Given the description of an element on the screen output the (x, y) to click on. 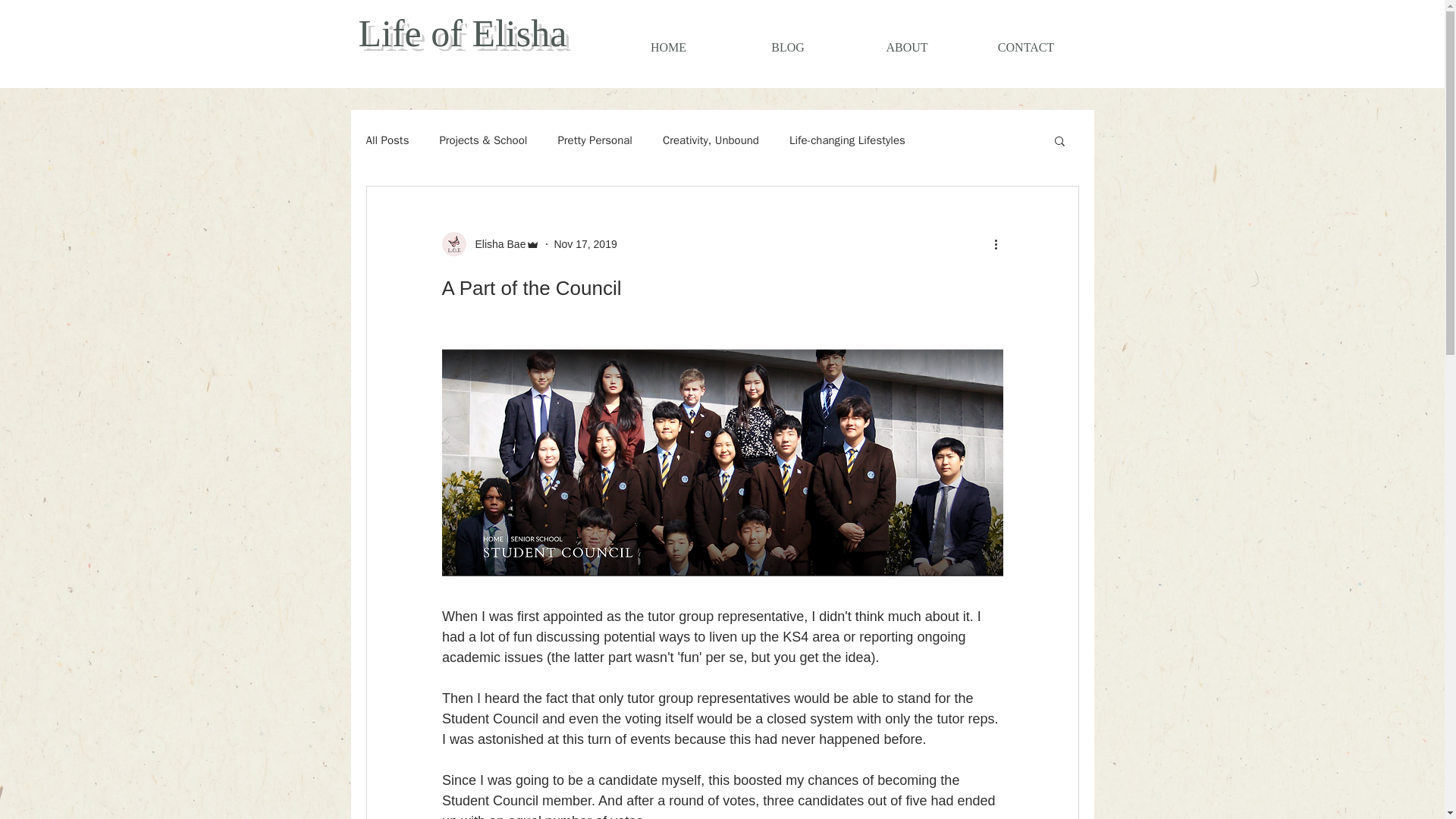
ABOUT (906, 47)
Elisha Bae (495, 244)
All Posts (387, 140)
Nov 17, 2019 (584, 244)
Creativity, Unbound (710, 140)
HOME (668, 47)
Life-changing Lifestyles (847, 140)
BLOG (787, 47)
Life of Elisha (462, 33)
CONTACT (1025, 47)
Pretty Personal (594, 140)
